Given the description of an element on the screen output the (x, y) to click on. 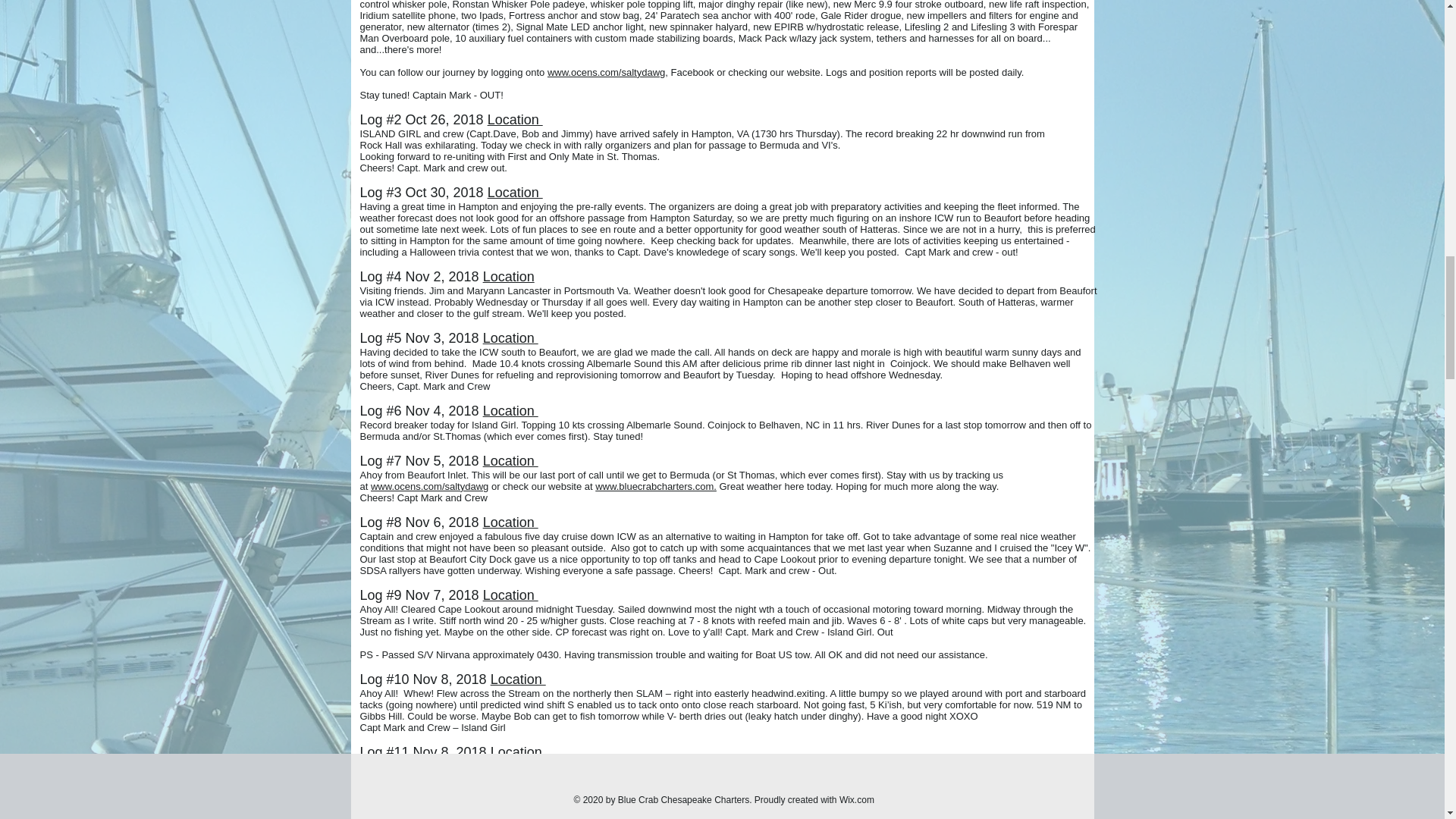
Location  (510, 595)
Location  (510, 410)
Location  (518, 679)
Location  (510, 461)
www.bluecrabcharters.com. (655, 486)
Location  (510, 522)
Location  (515, 192)
Location (508, 277)
Location  (518, 753)
Location  (510, 338)
Location  (515, 120)
